Given the description of an element on the screen output the (x, y) to click on. 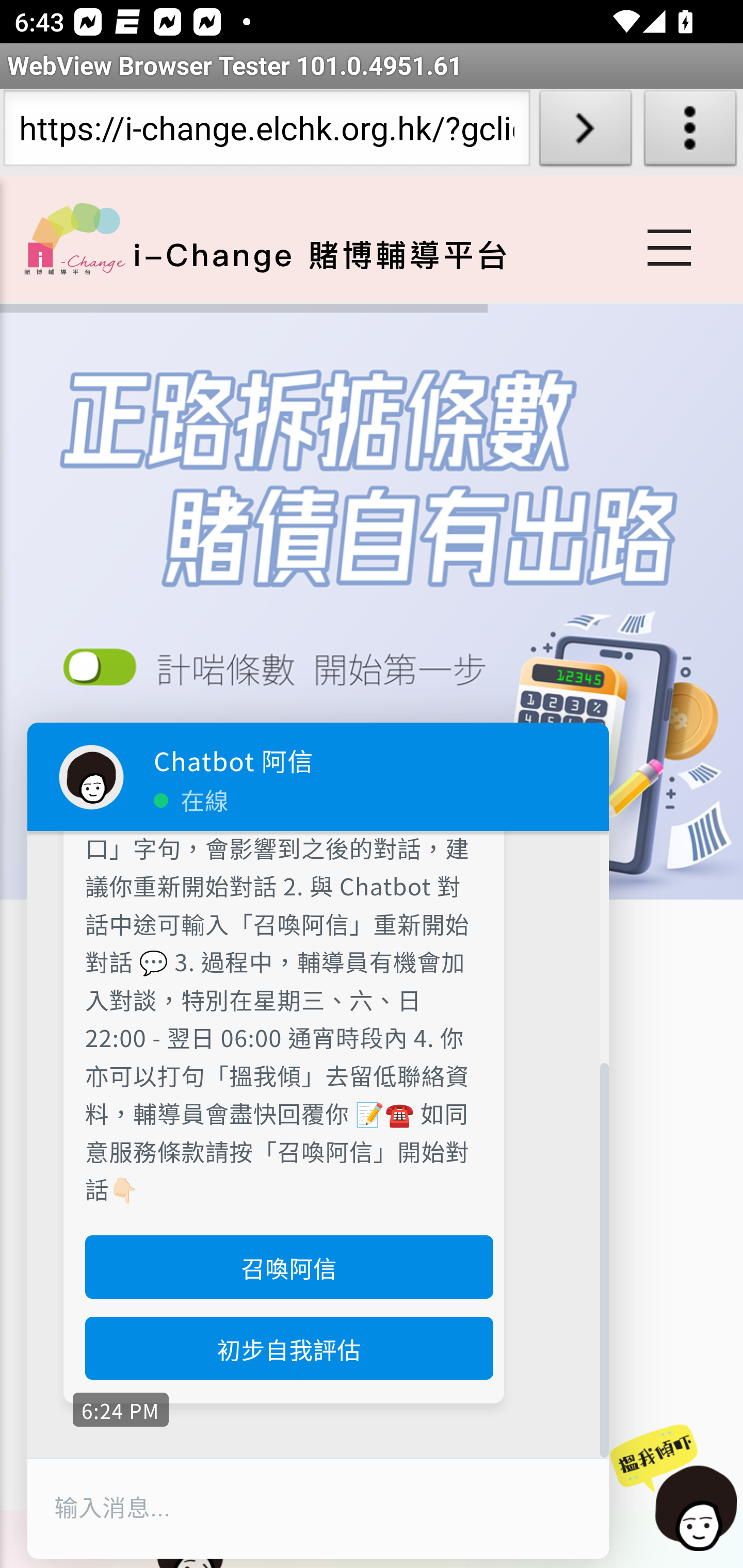
Load URL (585, 132)
About WebView (690, 132)
Home (74, 238)
查閱私隱政策 (283, 674)
Chat Now (674, 1488)
